Given the description of an element on the screen output the (x, y) to click on. 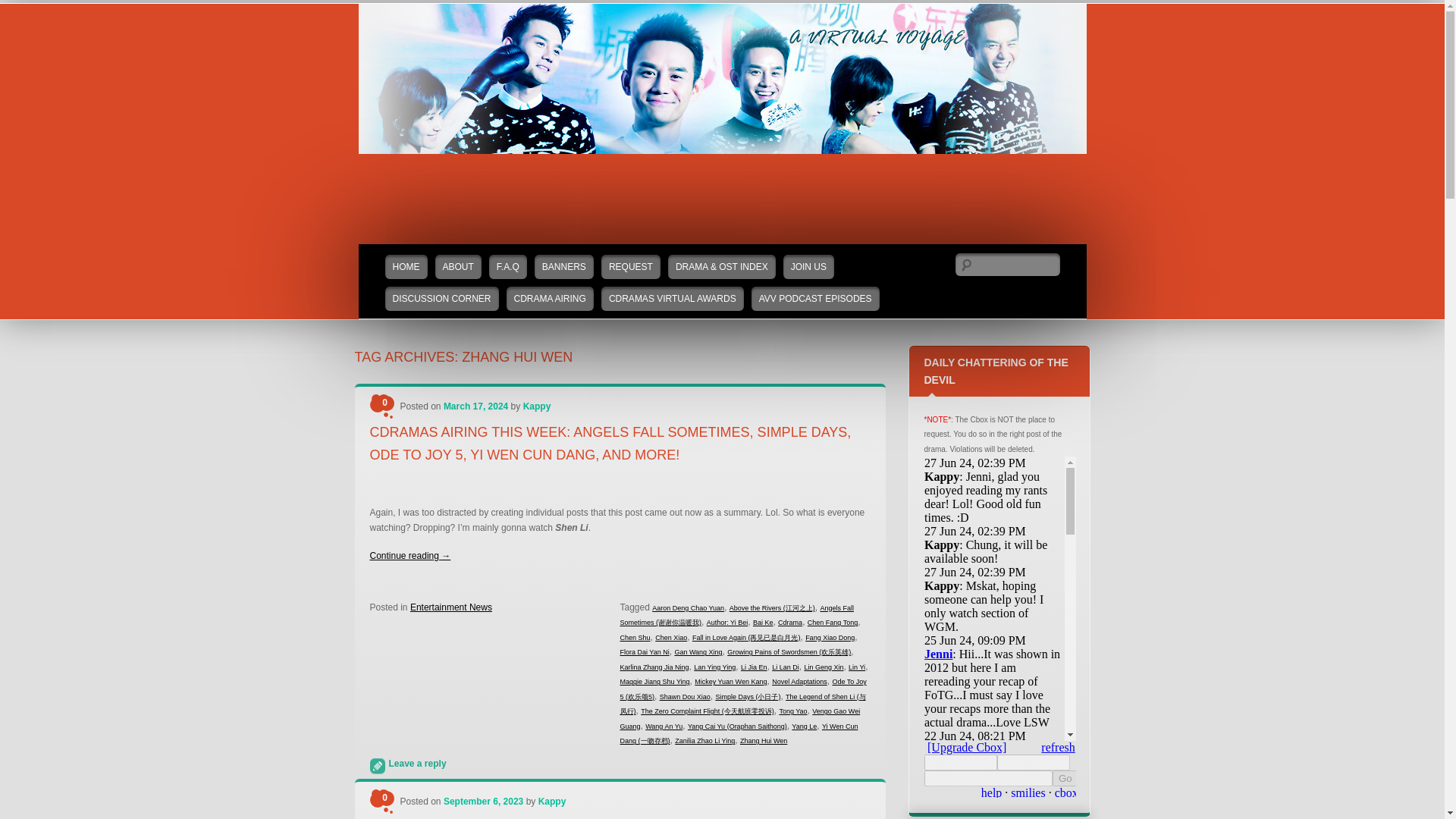
2:45 am (483, 801)
Skip to secondary content (410, 251)
Skip to primary content (404, 251)
View all posts by Kappy (552, 801)
9:51 pm (476, 406)
BANNERS (564, 266)
F.A.Q (508, 266)
REQUEST (631, 266)
ABOUT (458, 266)
CDRAMA AIRING (550, 298)
View all posts by Kappy (536, 406)
JOIN US (808, 266)
DISCUSSION CORNER (442, 298)
HOME (406, 266)
